Given the description of an element on the screen output the (x, y) to click on. 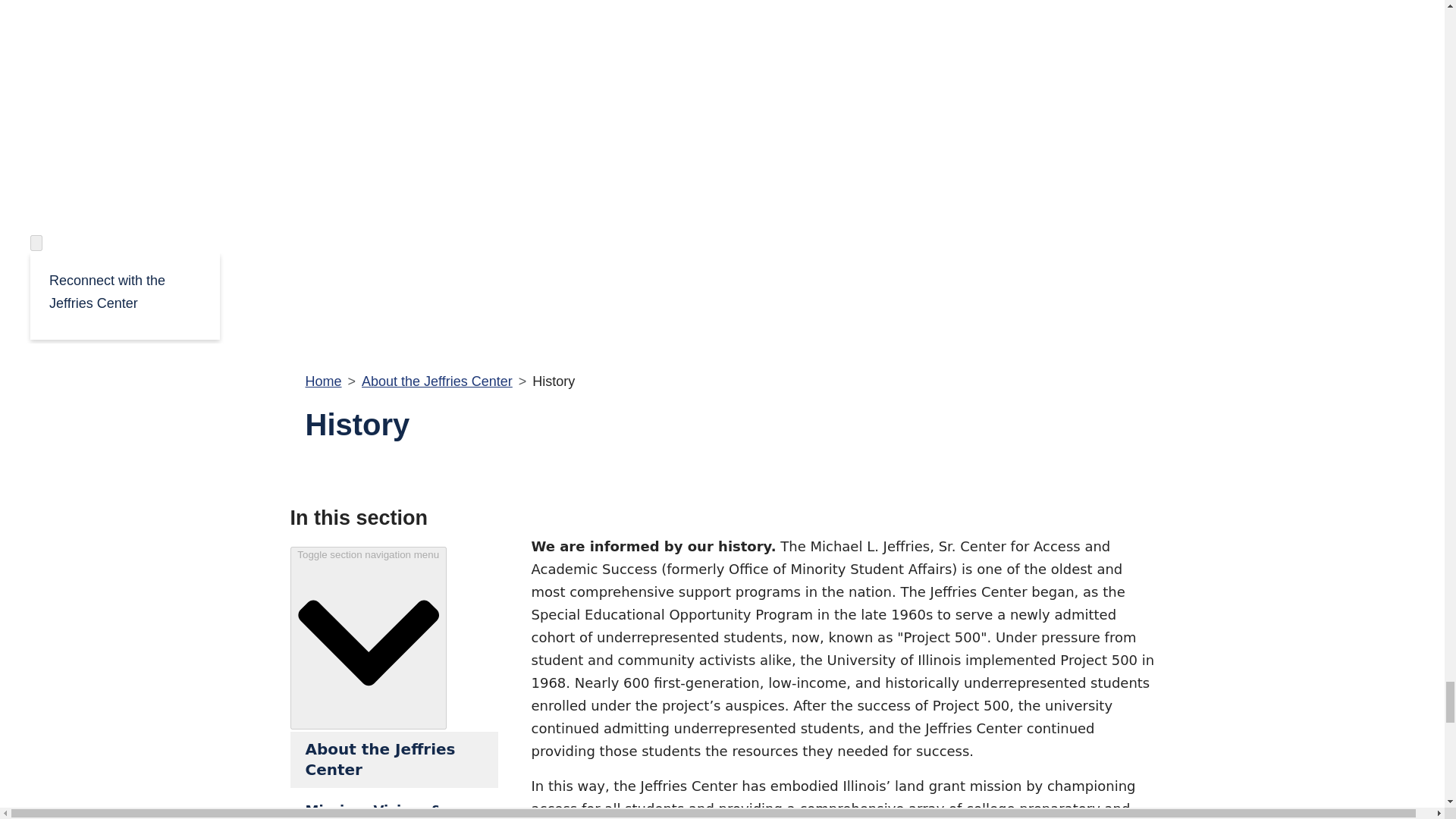
Home (322, 381)
About the Jeffries Center (436, 381)
About the Jeffries Center (393, 759)
Reconnect with the Jeffries Center (125, 291)
